Given the description of an element on the screen output the (x, y) to click on. 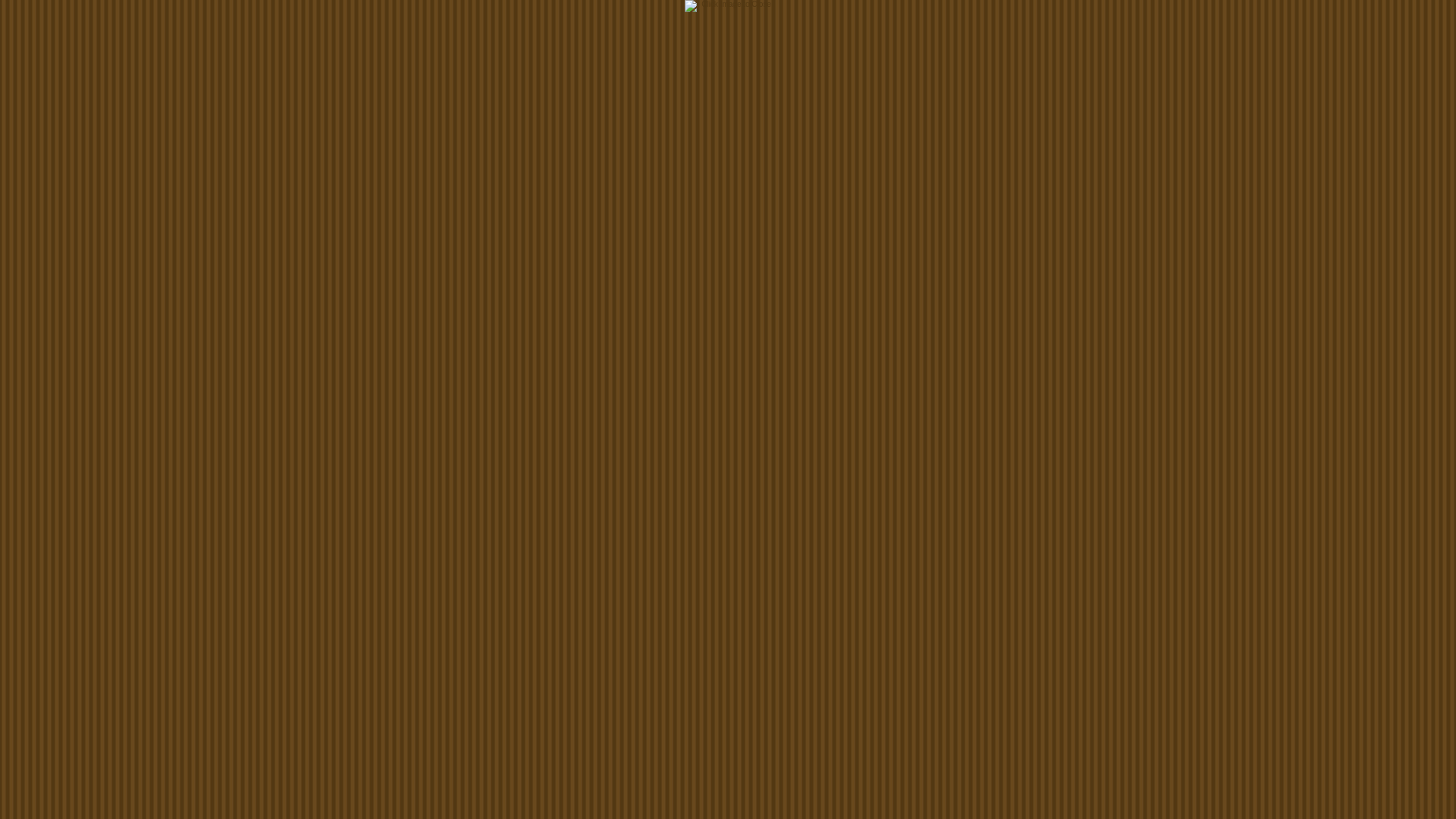
 - Click Image to Close  Element type: hover (727, 6)
